Given the description of an element on the screen output the (x, y) to click on. 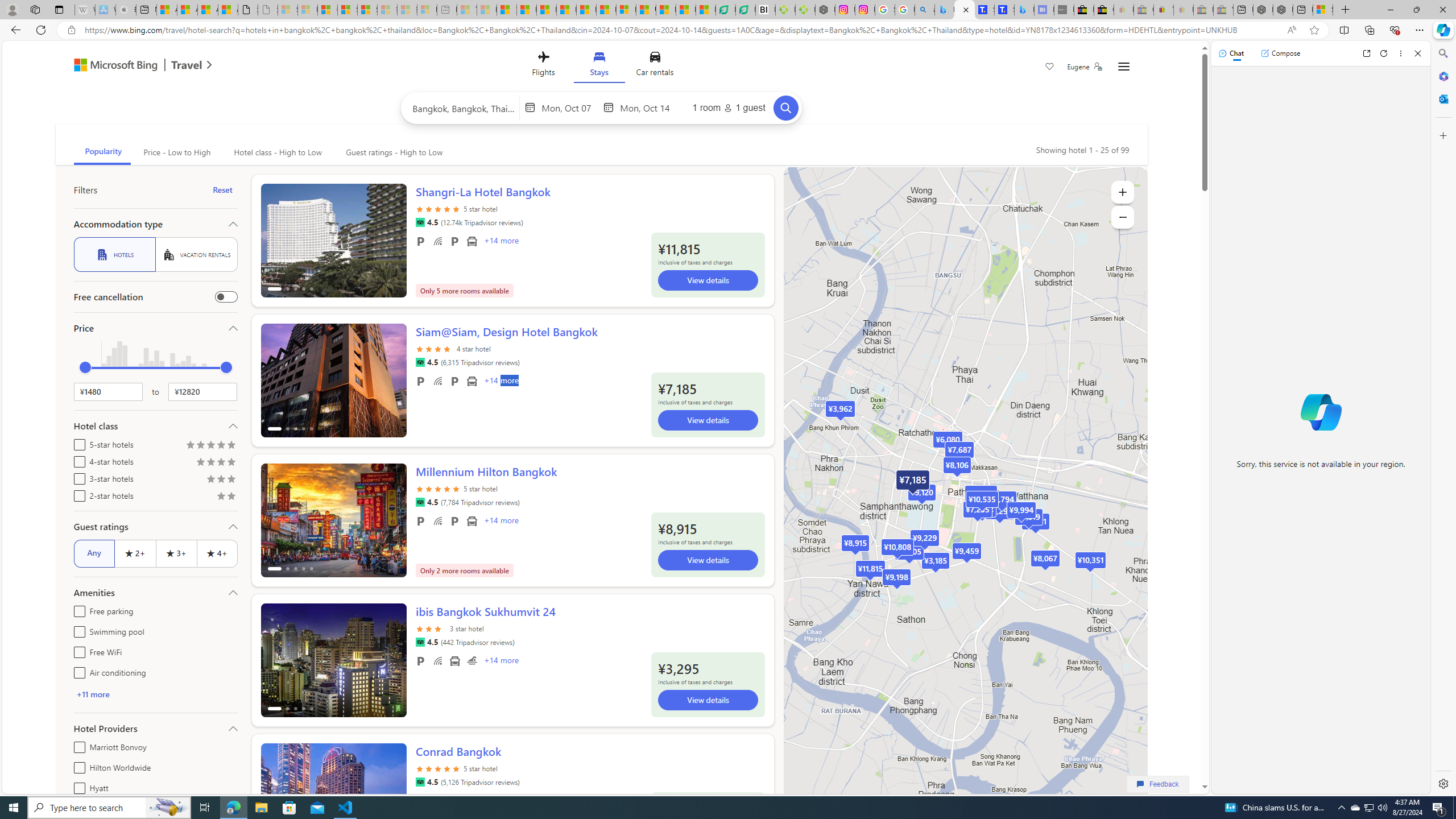
Threats and offensive language policy | eBay (1162, 9)
Valet parking (454, 520)
5-star hotels (76, 442)
ScrollLeft (273, 795)
min  (84, 367)
Free parking (420, 660)
Air conditioning (76, 670)
Hyatt (76, 786)
Free WiFi (437, 660)
Zoom out (1122, 216)
Start Date (569, 107)
